Given the description of an element on the screen output the (x, y) to click on. 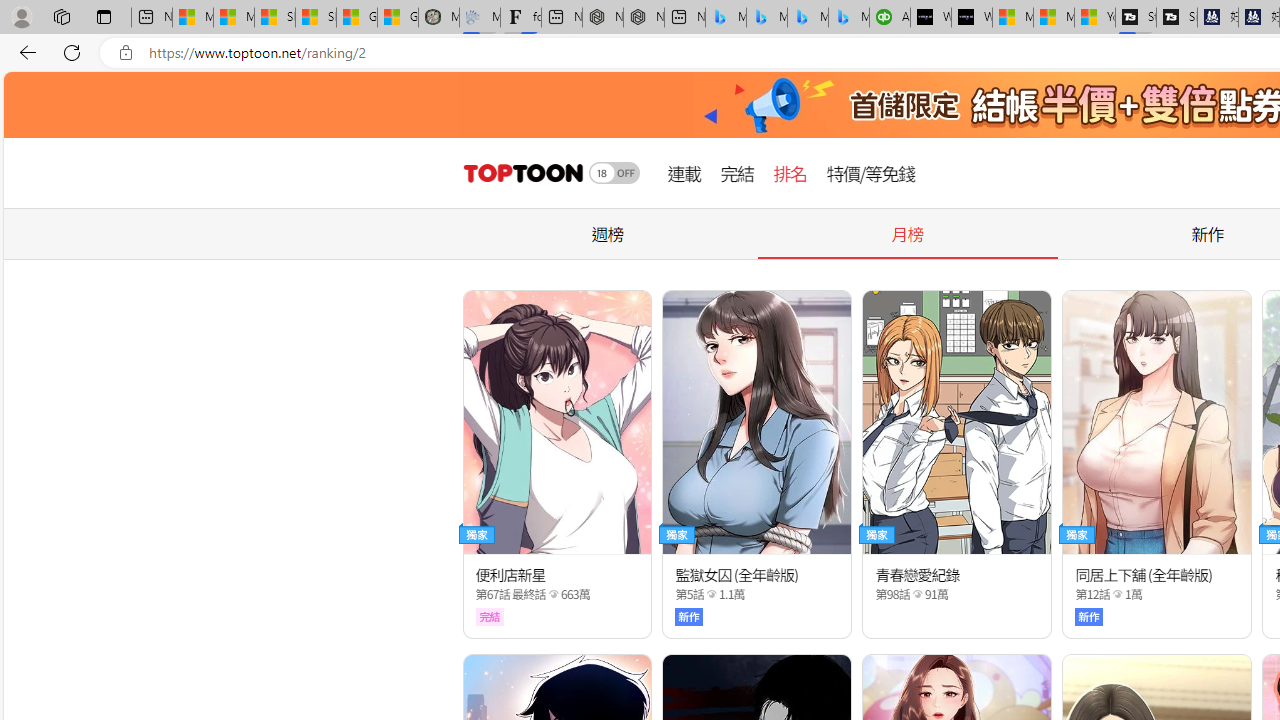
Accounting Software for Accountants, CPAs and Bookkeepers (890, 17)
Microsoft Bing Travel - Shangri-La Hotel Bangkok (849, 17)
